Given the description of an element on the screen output the (x, y) to click on. 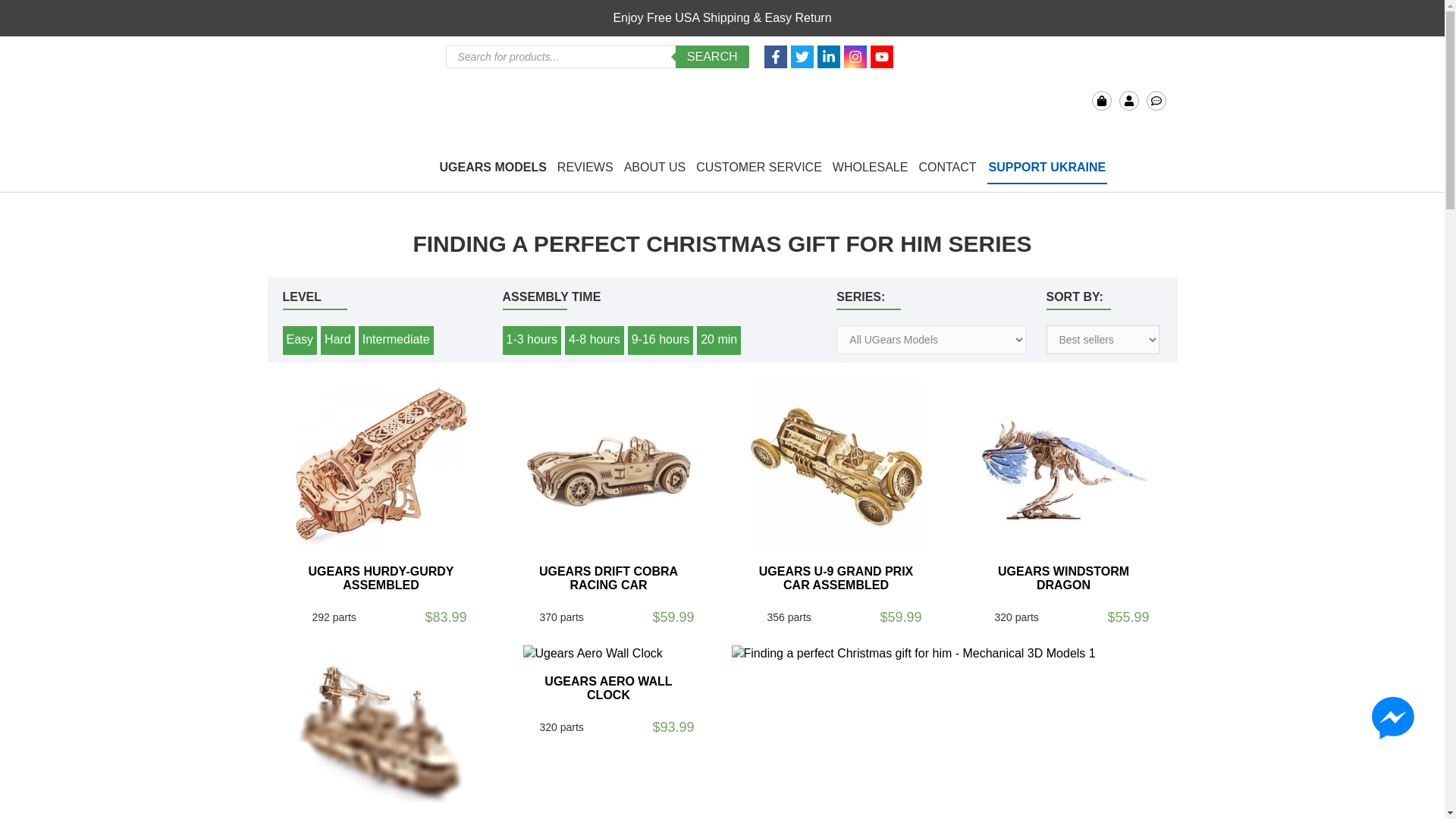
UGEARS MODELS (493, 168)
4-8 hours (594, 339)
SUPPORT UKRAINE (1047, 168)
CUSTOMER SERVICE (758, 168)
UGears USA (339, 88)
Account (1128, 100)
UGears Mechanical Wooden Model 3D Puzzle Kit Research Vessel (381, 730)
Ugears Windstorm Dragon (1064, 466)
View cart (1102, 100)
REVIEWS (584, 168)
Chat us now (1156, 100)
ABOUT US (654, 168)
WHOLESALE (870, 168)
9-16 hours (660, 339)
